Given the description of an element on the screen output the (x, y) to click on. 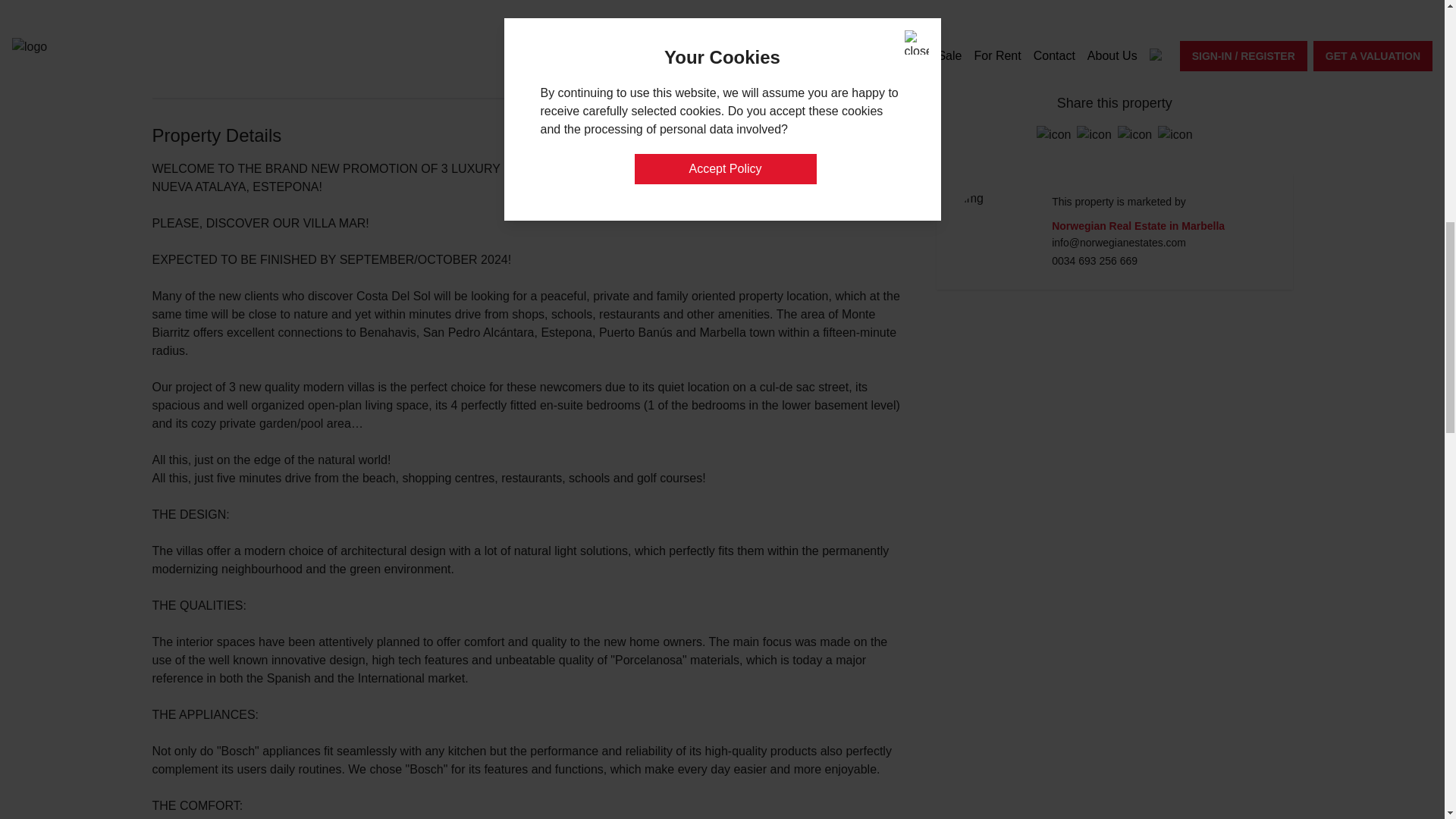
ARRANGE A VIEWING (1114, 55)
